Given the description of an element on the screen output the (x, y) to click on. 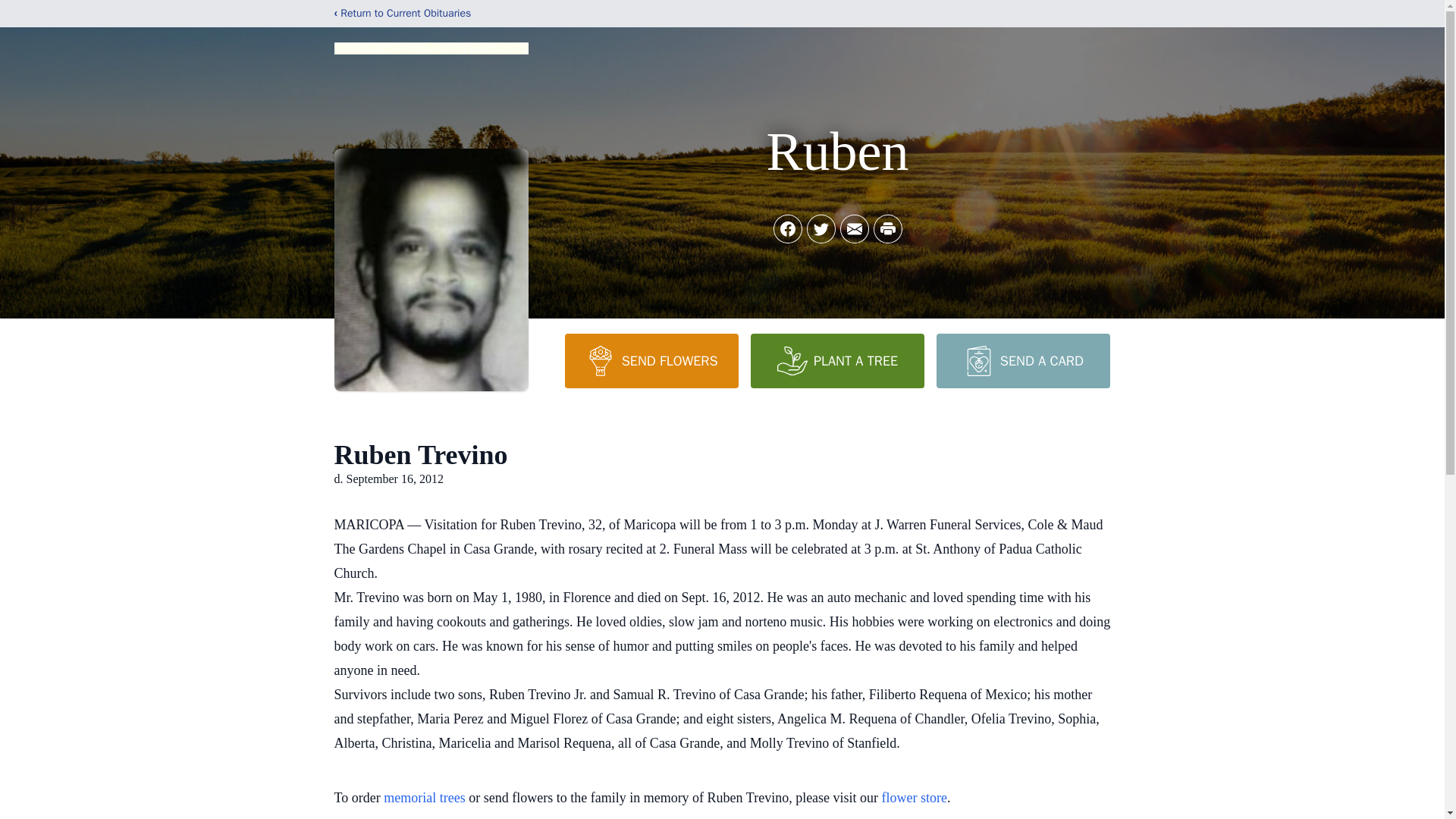
flower store (914, 797)
memorial trees (424, 797)
SEND A CARD (1022, 360)
SEND FLOWERS (651, 360)
PLANT A TREE (837, 360)
